Given the description of an element on the screen output the (x, y) to click on. 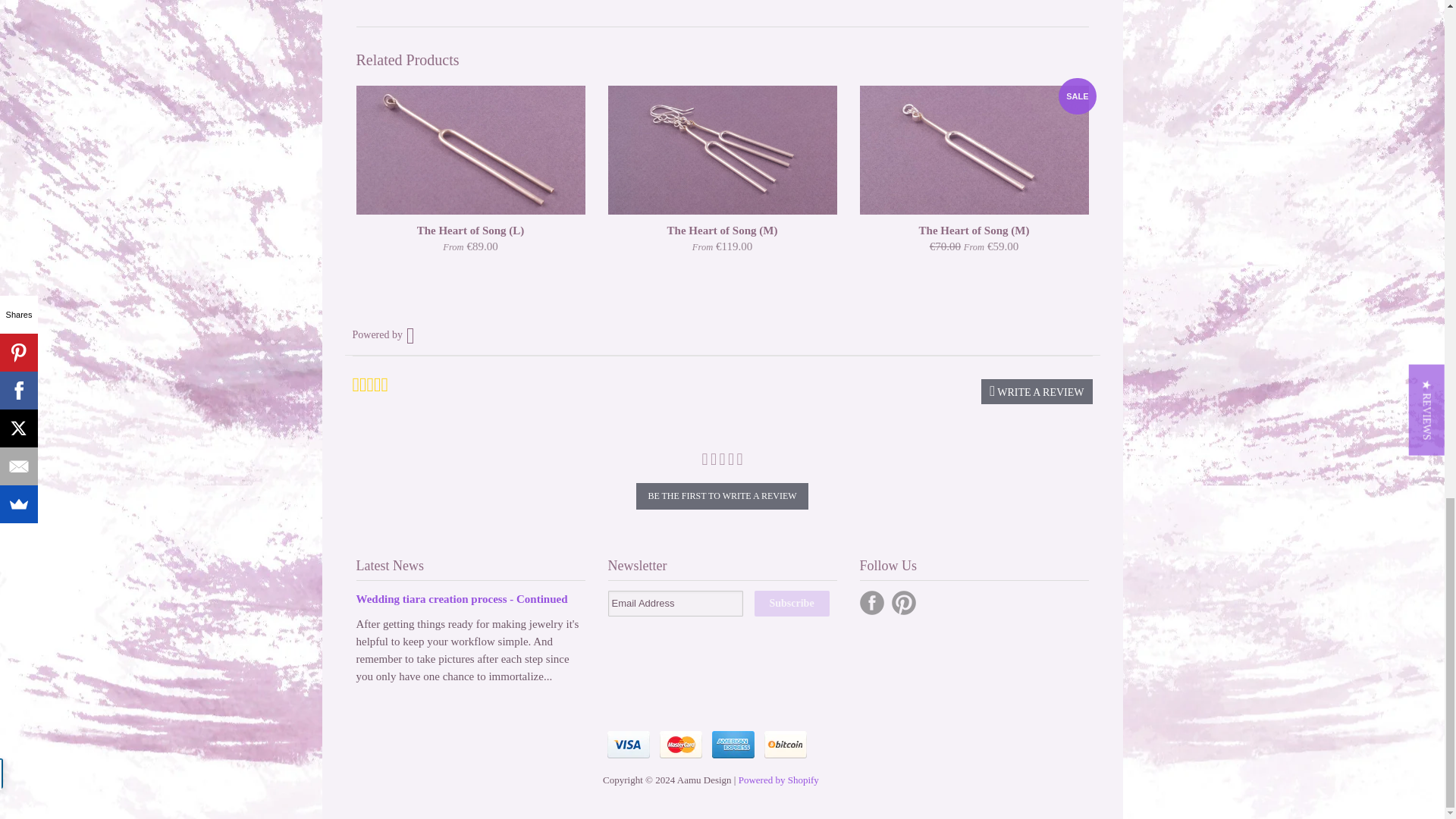
Aamu Design on Facebook (871, 602)
Aamu Design on Pinterest (903, 602)
Subscribe (791, 603)
